Given the description of an element on the screen output the (x, y) to click on. 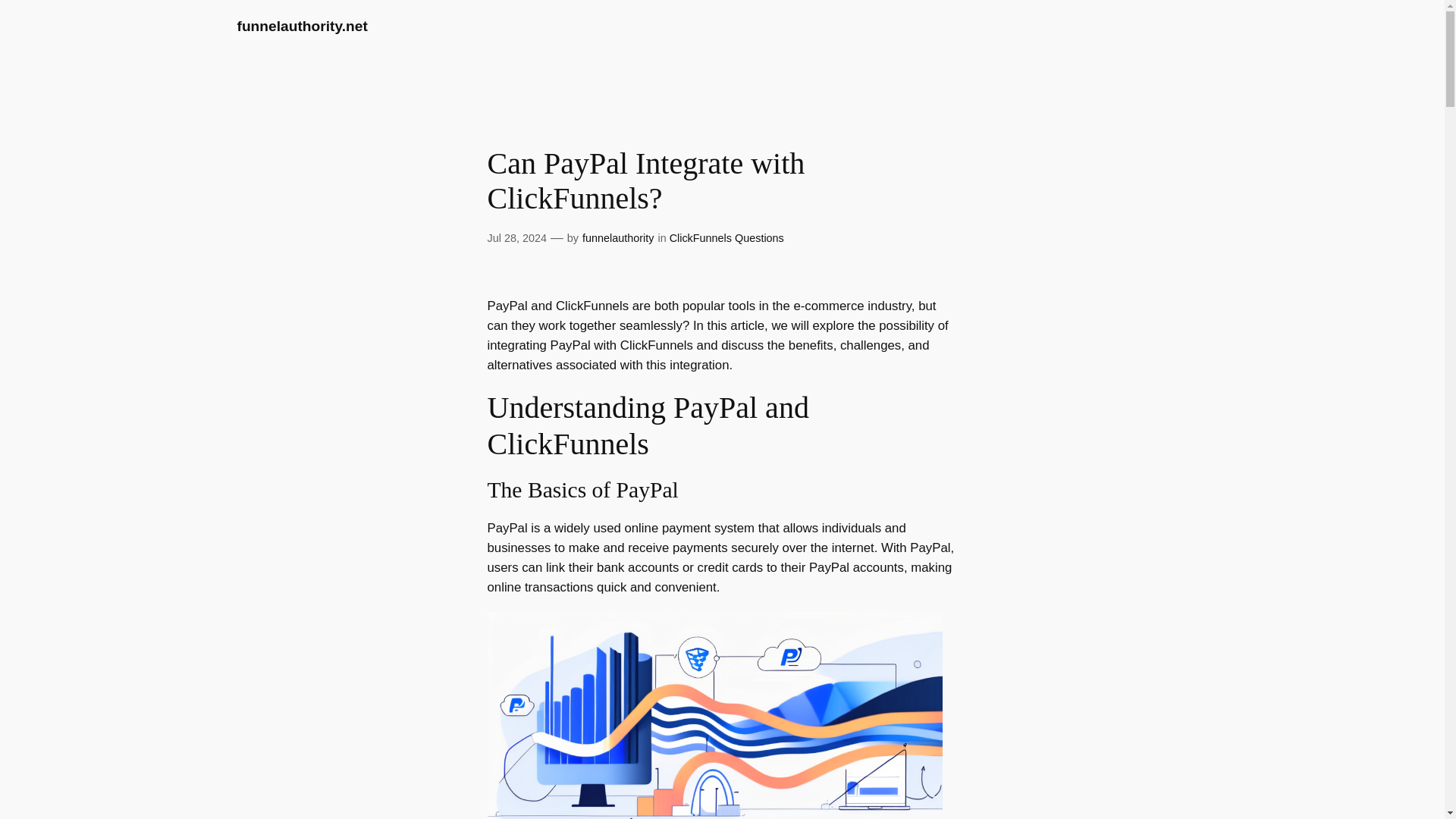
funnelauthority.net (300, 26)
Jul 28, 2024 (516, 237)
ClickFunnels Questions (726, 237)
funnelauthority (617, 237)
